Given the description of an element on the screen output the (x, y) to click on. 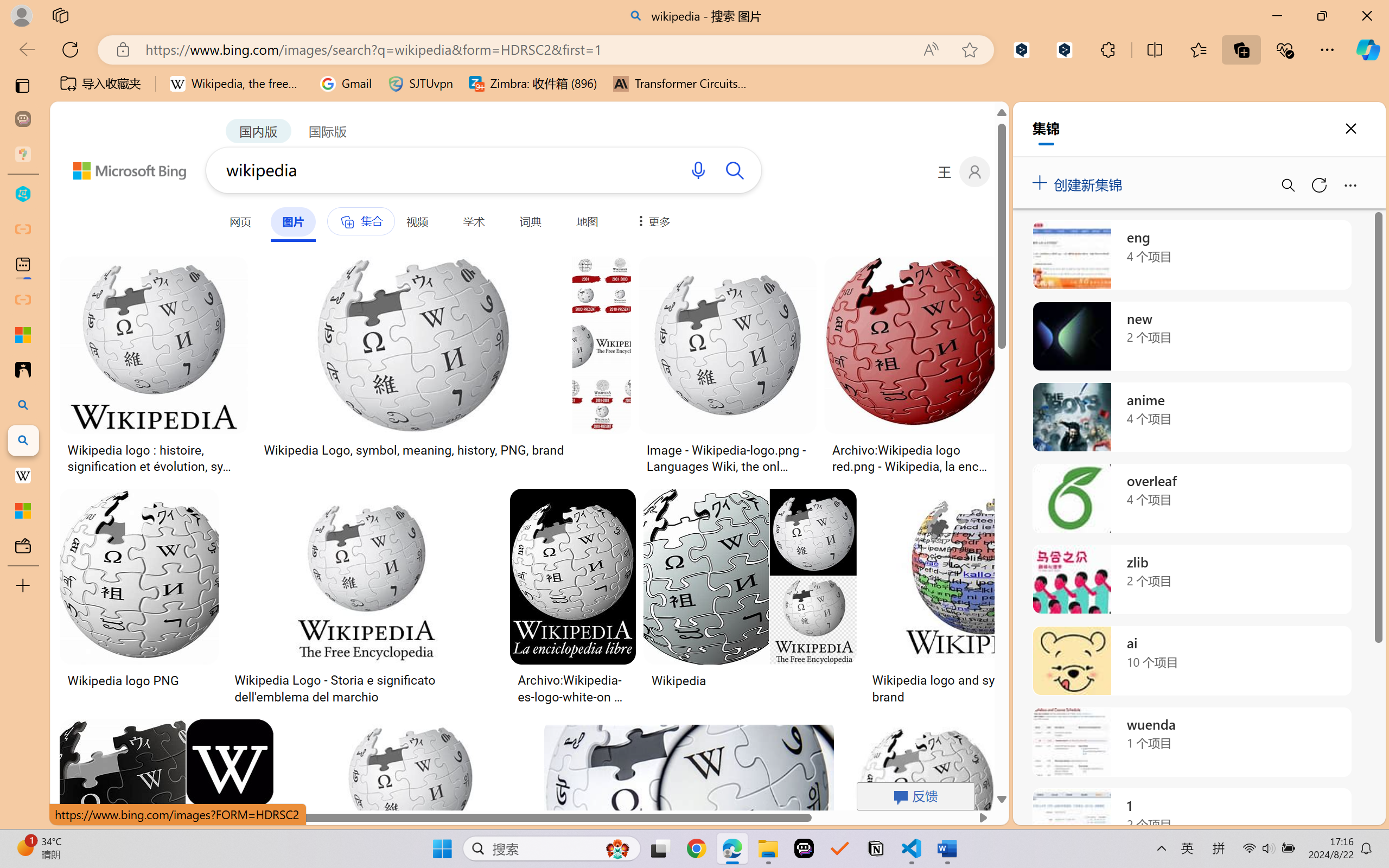
Dropdown Menu (650, 221)
Wikipedia (677, 680)
Wikipedia (749, 680)
Class: b_pri_nav_svg (346, 222)
Wikipedia, the free encyclopedia (236, 83)
Copilot (Ctrl+Shift+.) (1368, 49)
